Given the description of an element on the screen output the (x, y) to click on. 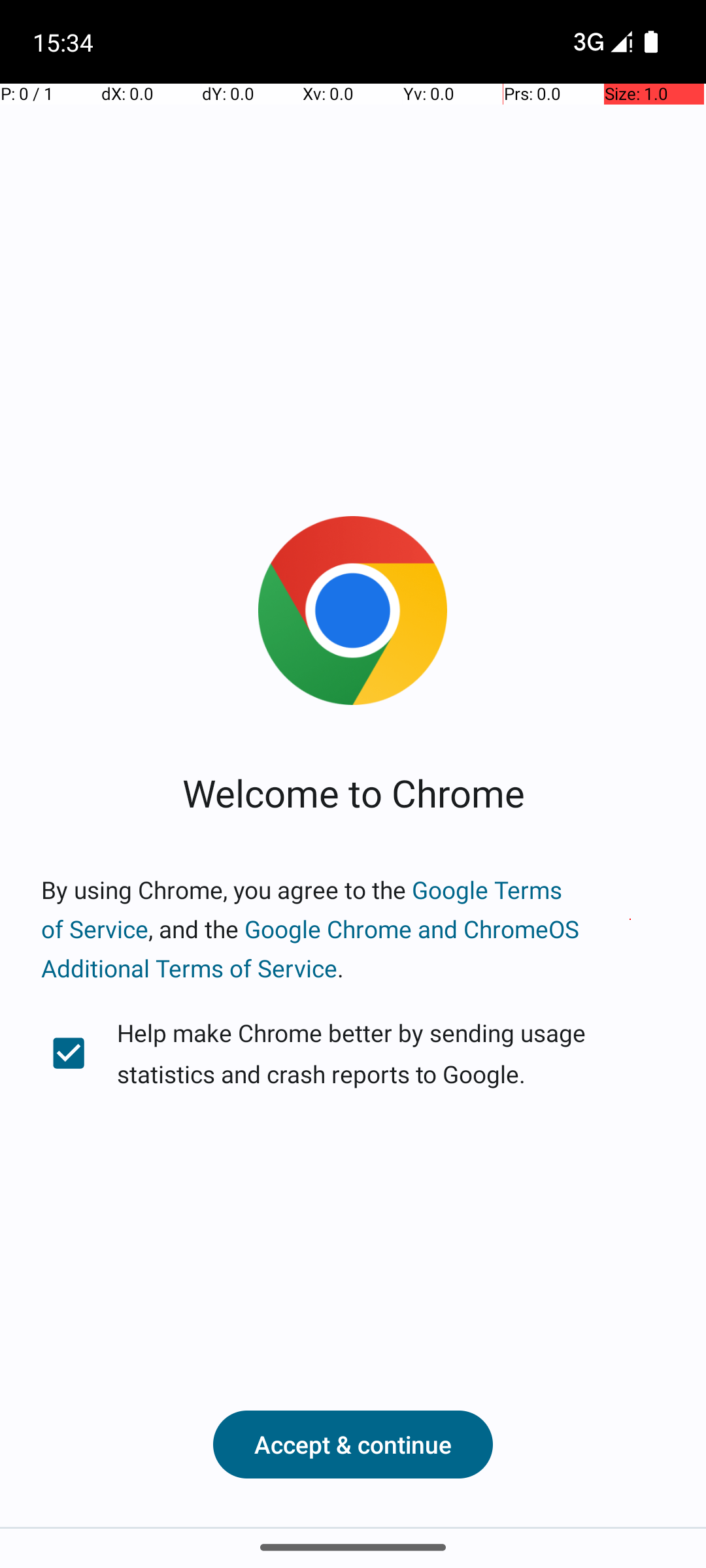
Accept & continue Element type: android.widget.Button (352, 1444)
Welcome to Chrome Element type: android.widget.TextView (352, 792)
By using Chrome, you agree to the Google Terms of Service, and the Google Chrome and ChromeOS Additional Terms of Service. Element type: android.widget.TextView (352, 928)
Help make Chrome better by sending usage statistics and crash reports to Google. Element type: android.widget.CheckBox (352, 1053)
